Given the description of an element on the screen output the (x, y) to click on. 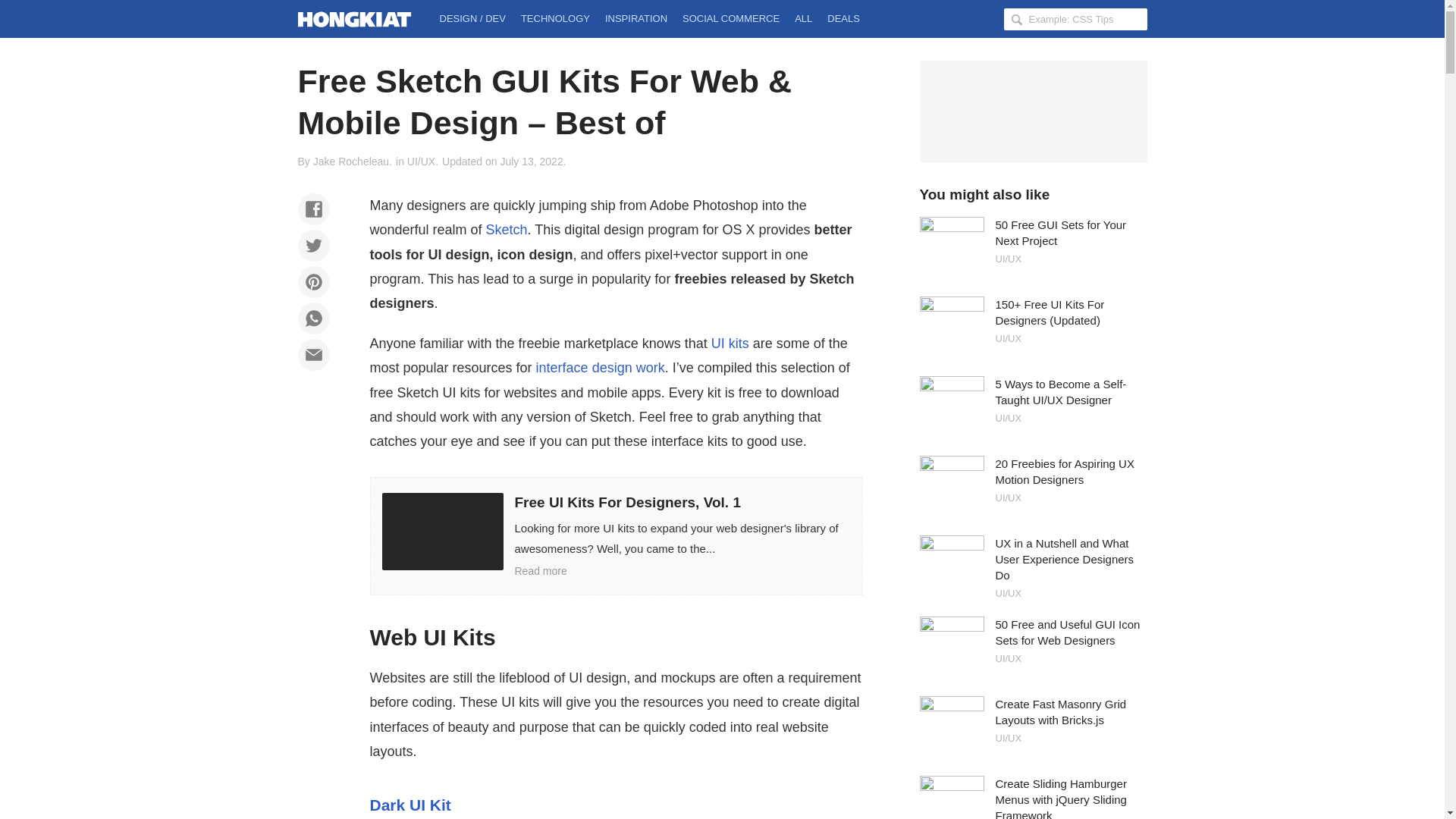
Sketch (506, 229)
Search Hongkiat for (1075, 18)
DEALS (843, 18)
Jake Rocheleau (350, 161)
TECHNOLOGY (554, 18)
INSPIRATION (635, 18)
UI kits (730, 343)
Dark UI Kit (410, 805)
Free UI Kits For Designers, Vol. 1 (615, 535)
SOCIAL COMMERCE (731, 18)
interface design work (600, 367)
Read More: Free UI Kits For Designers, Vol. 1 (615, 535)
